Given the description of an element on the screen output the (x, y) to click on. 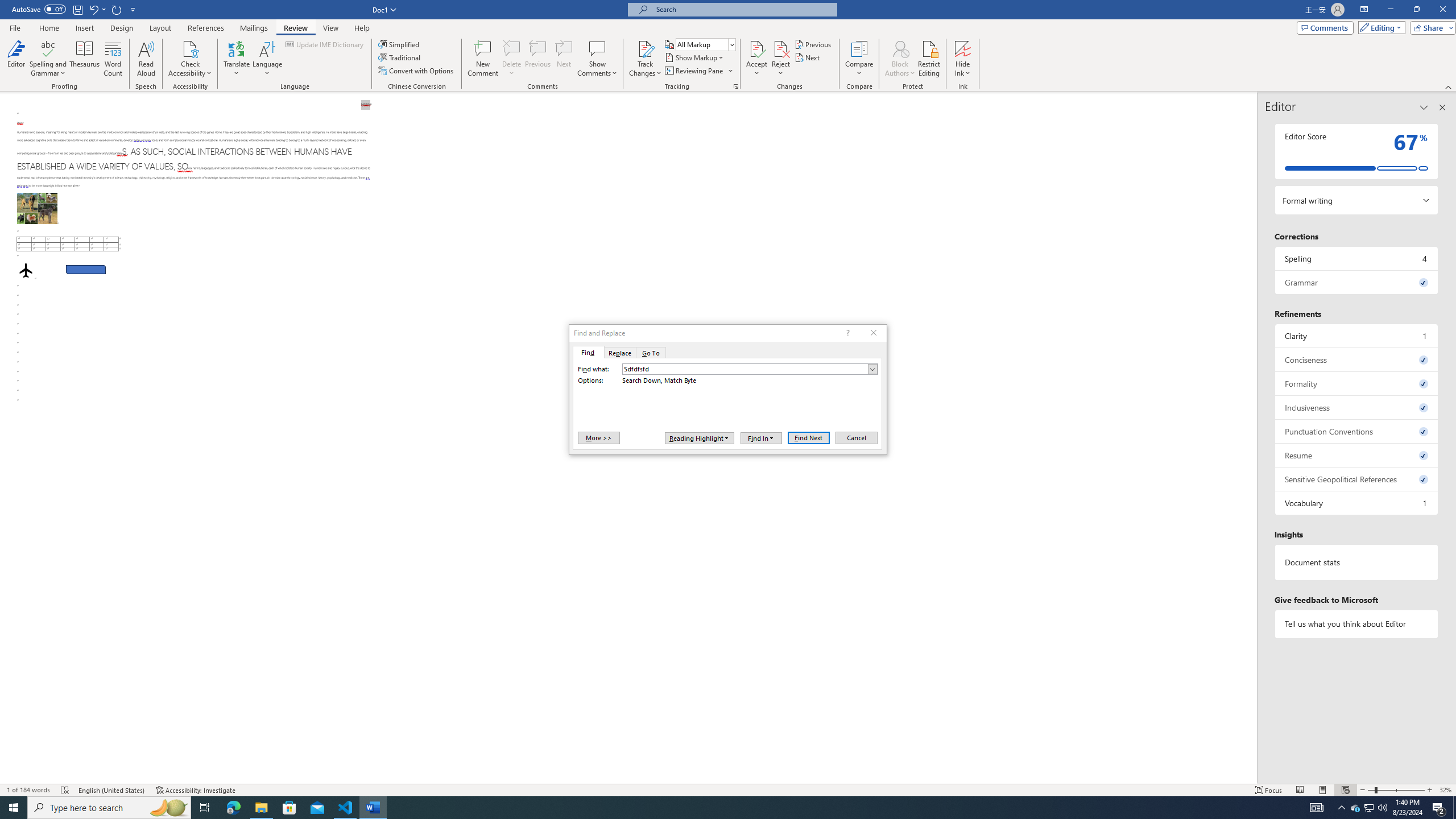
Read Aloud (145, 58)
Translate (236, 58)
Tell us what you think about Editor (1356, 624)
Repeat Paragraph Alignment (117, 9)
Spelling and Grammar (48, 48)
